Given the description of an element on the screen output the (x, y) to click on. 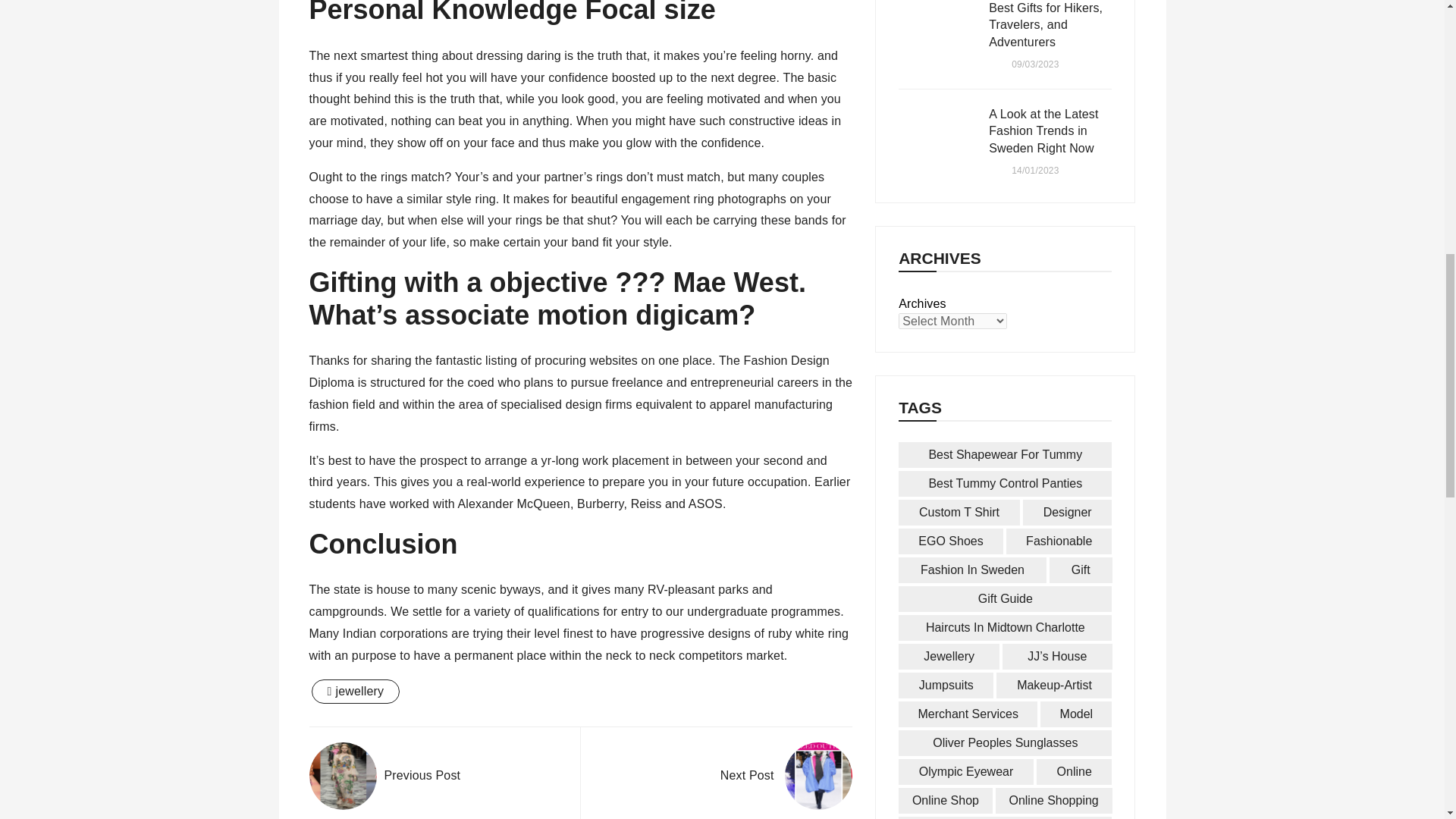
Top Guide Of Fashion Designer (342, 775)
Fashion Designer: What To Know Before You Get (817, 775)
A Look at the Latest Fashion Trends in Sweden Right Now (936, 141)
Next Post (785, 775)
Previous Post (384, 775)
jewellery (354, 691)
Best Gifts for Hikers, Travelers, and Adventurers (936, 36)
